Given the description of an element on the screen output the (x, y) to click on. 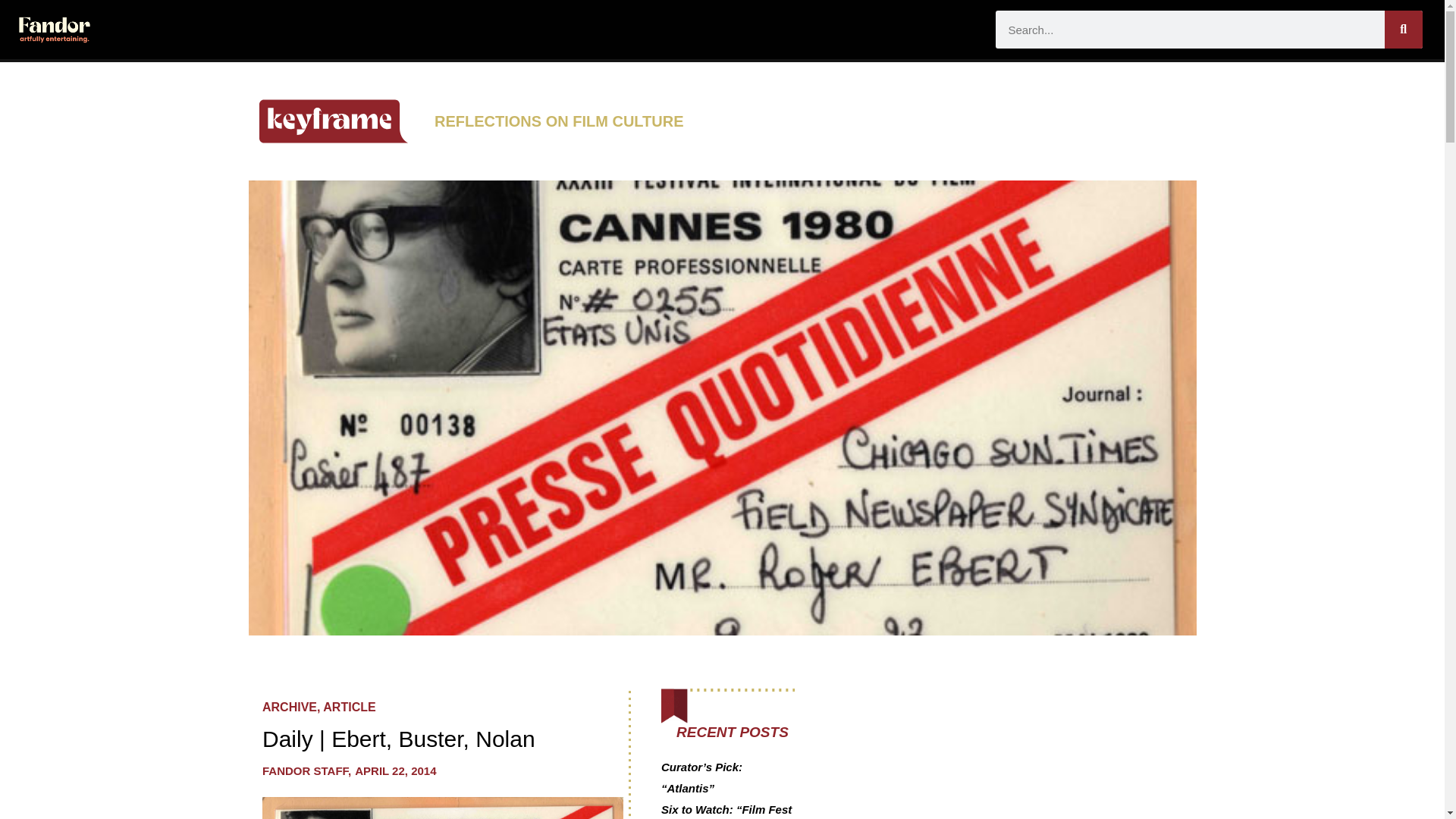
ARCHIVE (289, 707)
ARTICLE (349, 707)
Search (1403, 29)
